Given the description of an element on the screen output the (x, y) to click on. 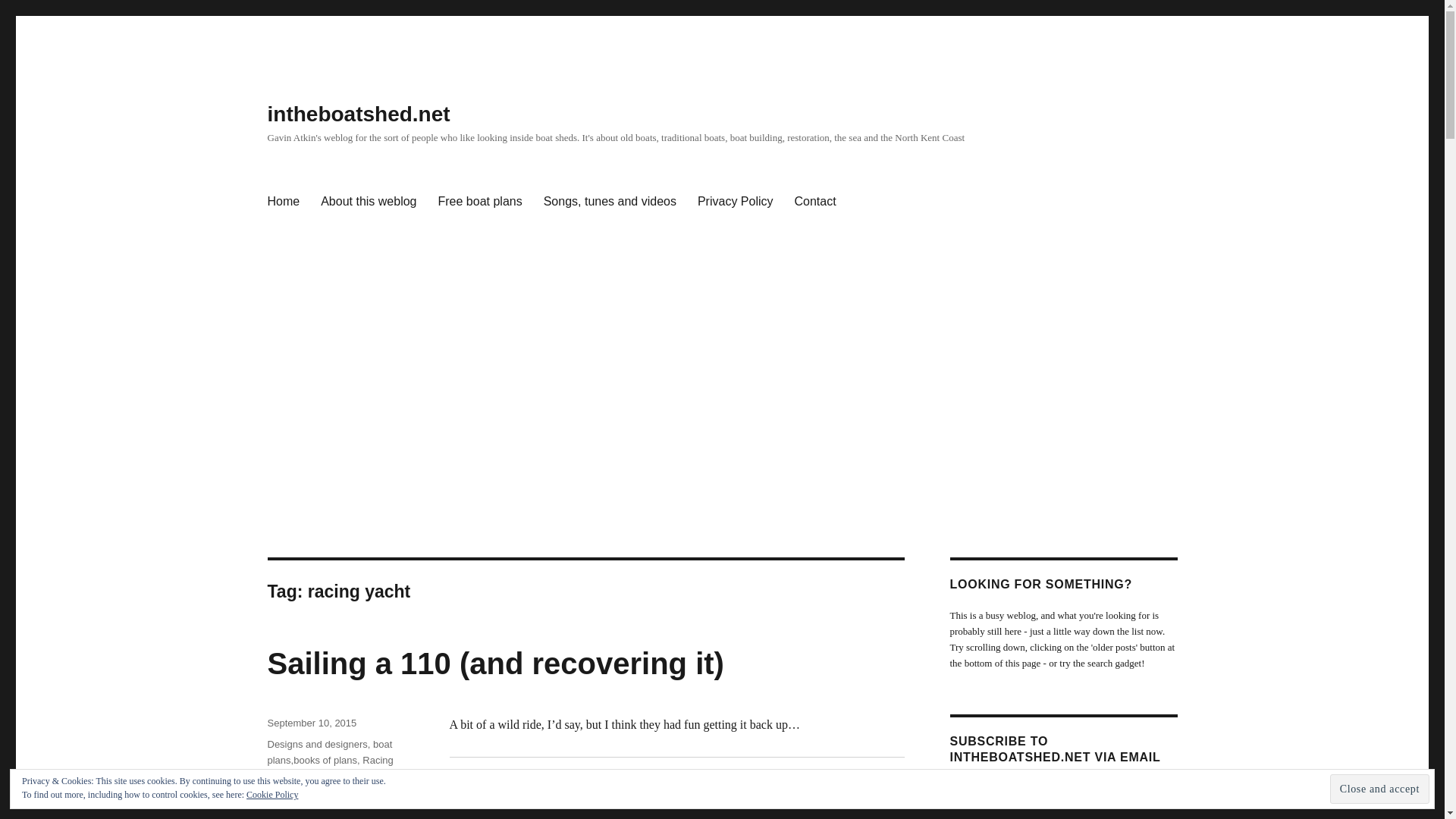
About this weblog (368, 201)
Tumblr (710, 809)
Free boat plans (480, 201)
Sailing boat (322, 776)
Reddit (843, 809)
Songs, tunes and videos (609, 201)
110 (274, 797)
Click to share on Reddit (843, 809)
Click to share on Twitter (641, 809)
Email (777, 809)
Contact (815, 201)
Click to share on Facebook (486, 809)
Racing yacht (329, 768)
Close and accept (1379, 788)
Privacy Policy (735, 201)
